Given the description of an element on the screen output the (x, y) to click on. 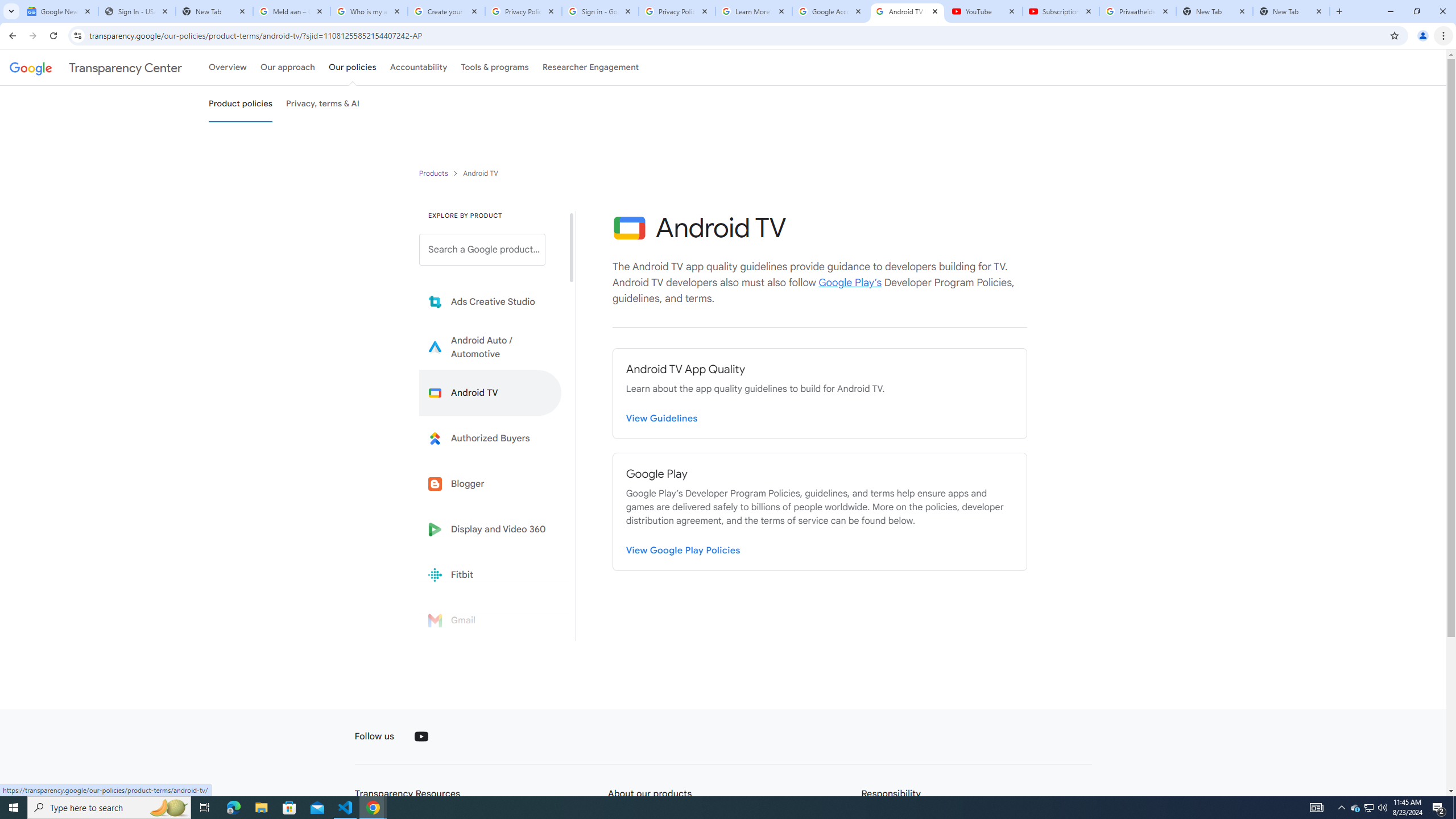
Search a Google product from below list. (481, 249)
Subscriptions - YouTube (1061, 11)
Blogger (490, 483)
Learn more about Android Auto (490, 347)
New Tab (1291, 11)
Google News (59, 11)
Display and Video 360 (490, 529)
Our policies (351, 67)
Tools & programs (494, 67)
Sign in - Google Accounts (599, 11)
Learn more about Authorized Buyers (490, 438)
